Given the description of an element on the screen output the (x, y) to click on. 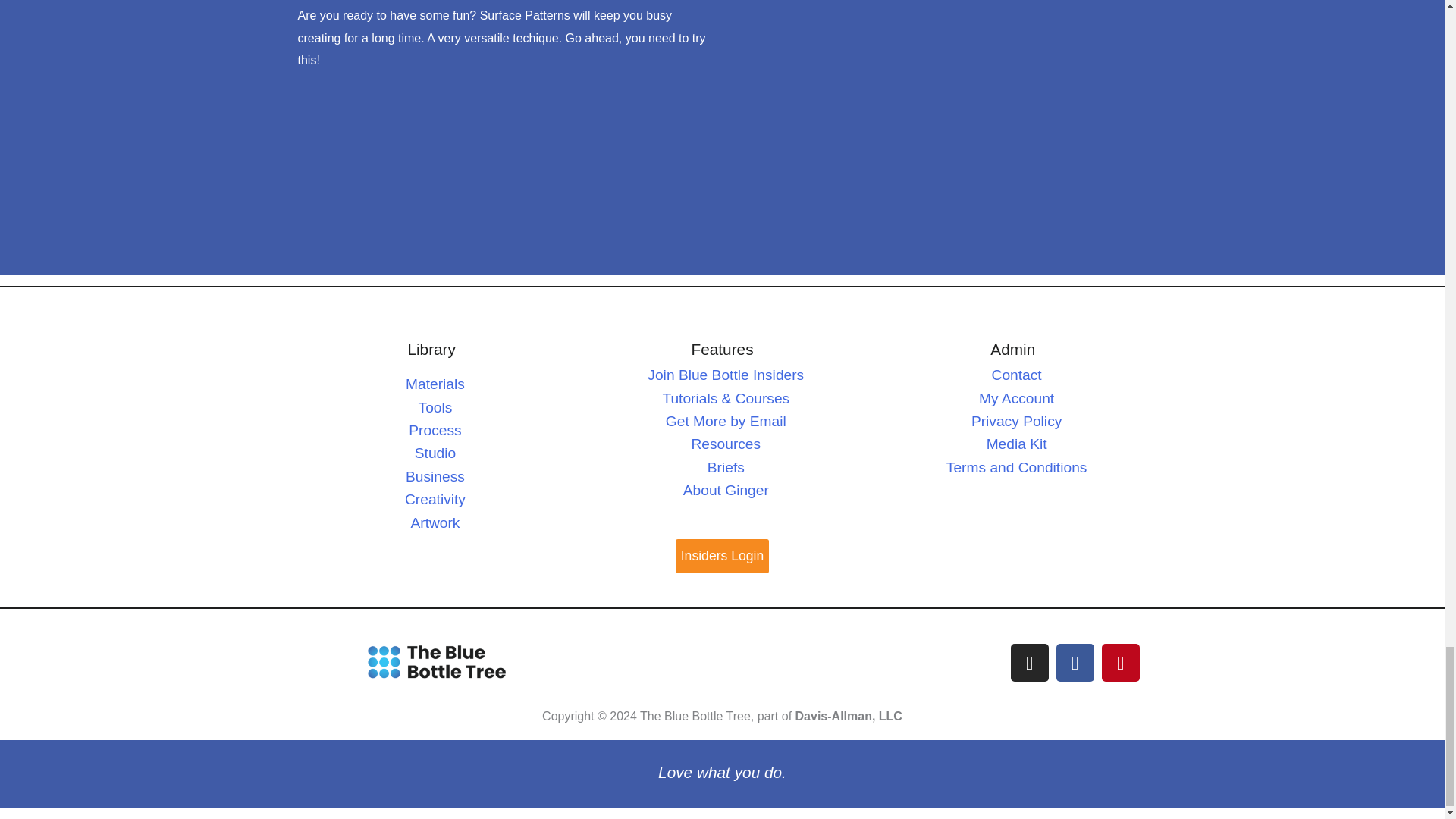
Creativity (434, 498)
Materials (435, 383)
Artwork (435, 521)
Tools (435, 407)
Join Blue Bottle Insiders (725, 374)
Process (435, 430)
Business (435, 476)
Studio (434, 453)
